Given the description of an element on the screen output the (x, y) to click on. 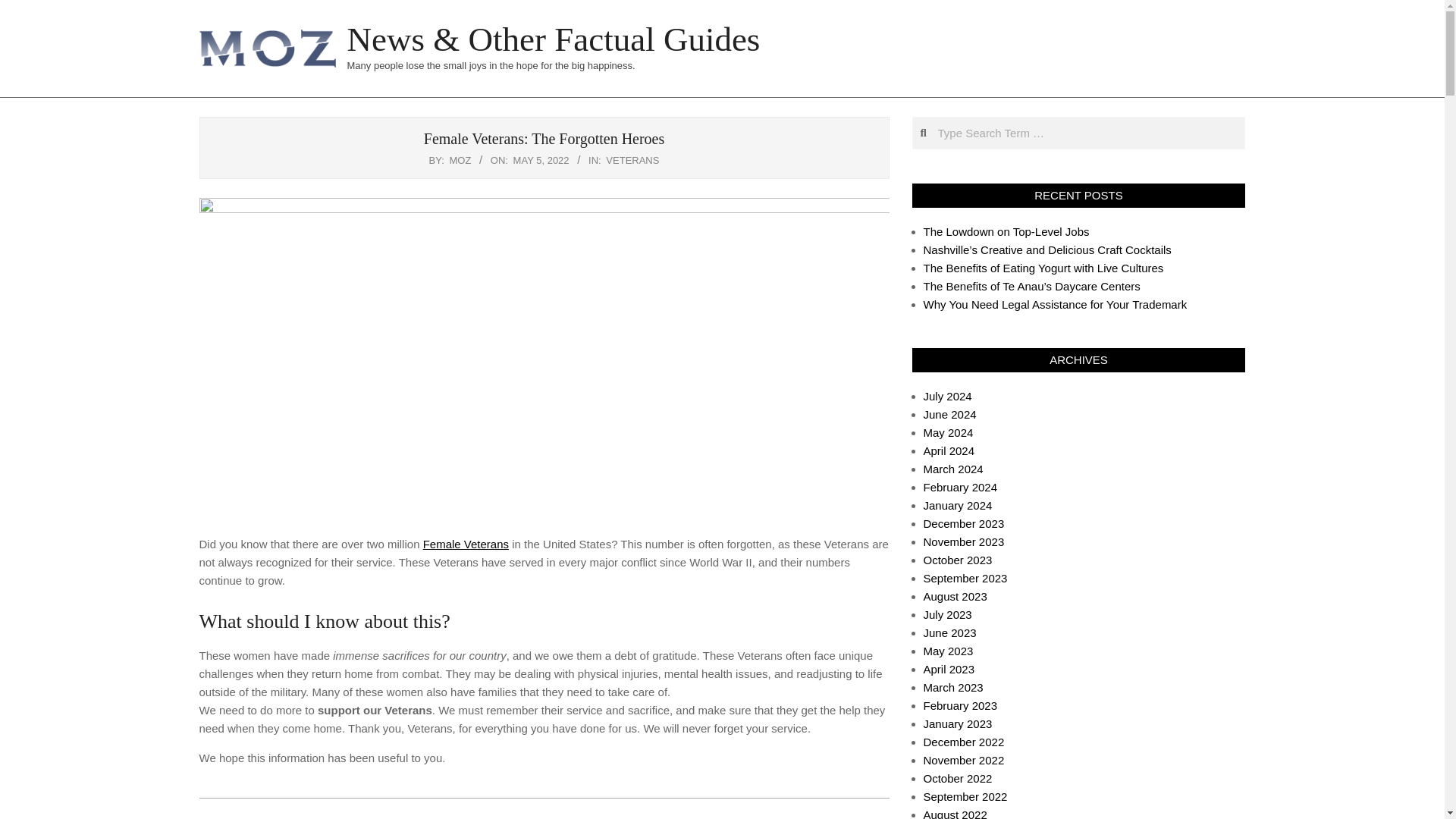
February 2024 (960, 486)
September 2023 (965, 577)
May 2024 (948, 431)
June 2023 (949, 632)
December 2022 (963, 741)
April 2024 (949, 450)
February 2023 (960, 705)
Thursday, May 5, 2022, 6:46 pm (541, 160)
July 2023 (947, 614)
VETERANS (632, 160)
The Lowdown on Top-Level Jobs (1006, 231)
January 2024 (957, 504)
September 2022 (965, 796)
Female Veterans (465, 543)
May 2023 (948, 650)
